Given the description of an element on the screen output the (x, y) to click on. 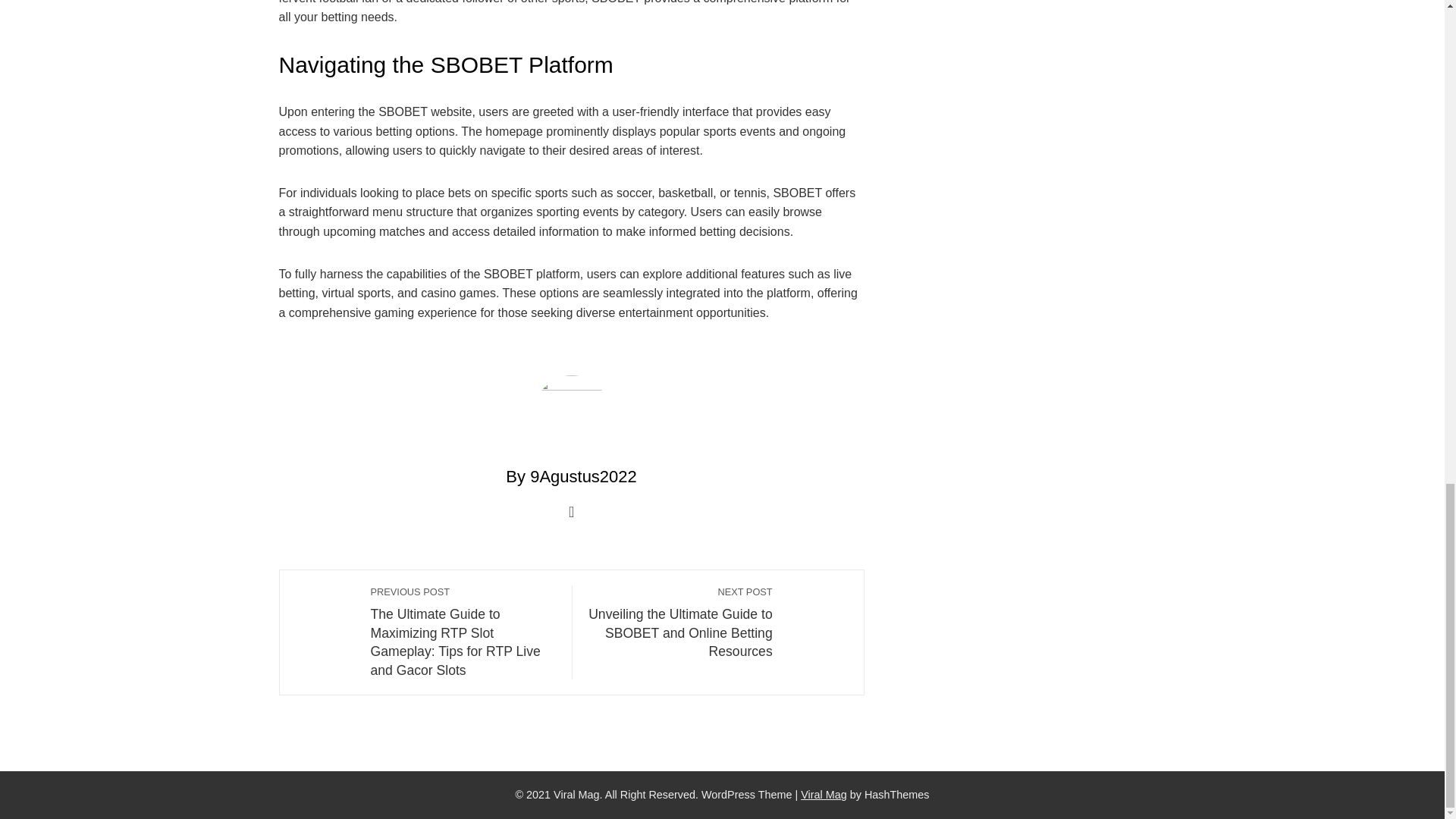
Viral Mag (823, 794)
Download Viral News (823, 794)
